Given the description of an element on the screen output the (x, y) to click on. 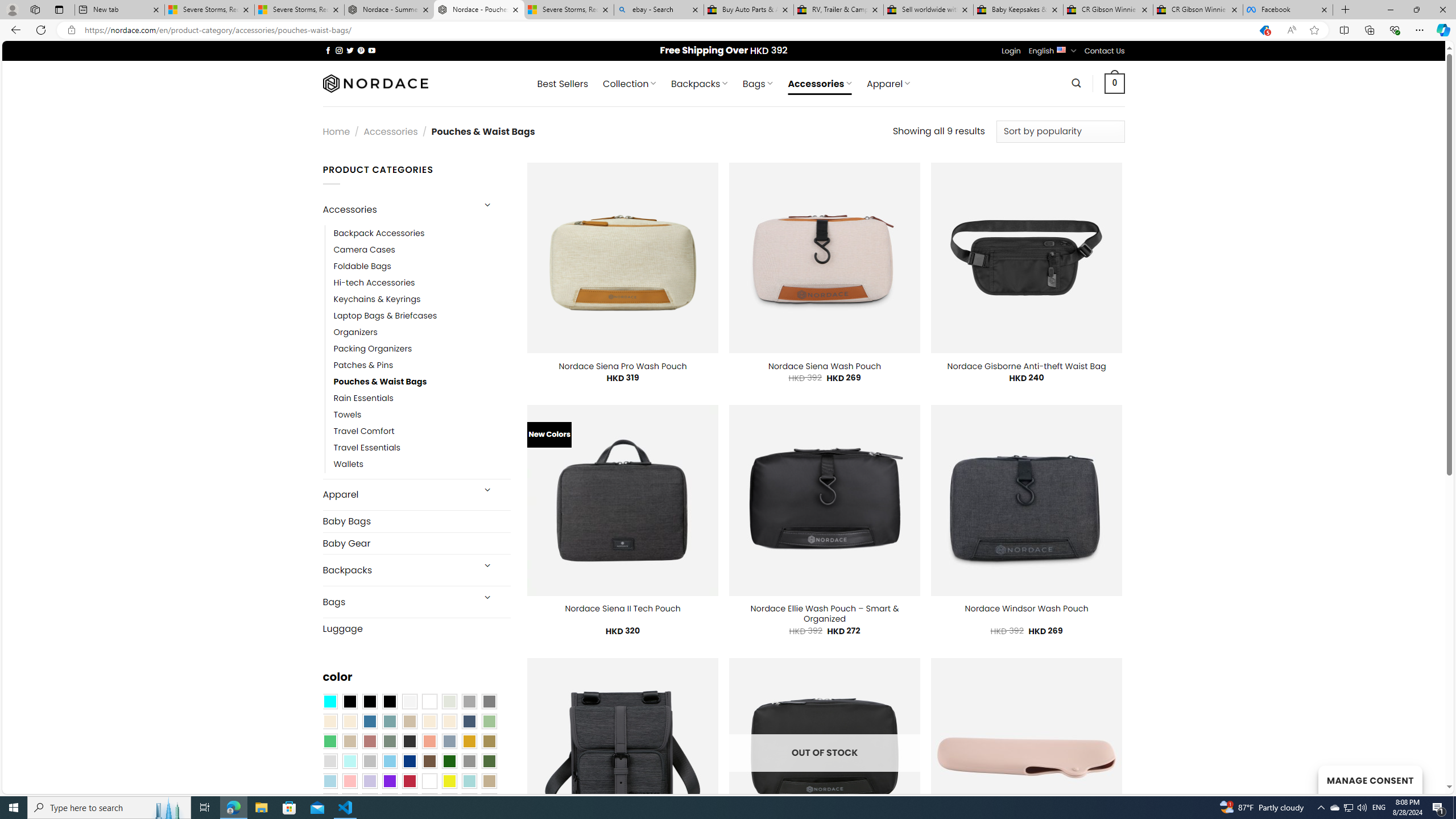
Rose (369, 741)
Follow on Instagram (338, 49)
Camera Cases (363, 248)
Cream (449, 721)
Keychains & Keyrings (422, 298)
Travel Essentials (366, 448)
Towels (347, 415)
Backpack Accessories (422, 232)
Baby Gear (416, 542)
Caramel (429, 721)
Laptop Bags & Briefcases (384, 316)
Khaki (488, 780)
